Given the description of an element on the screen output the (x, y) to click on. 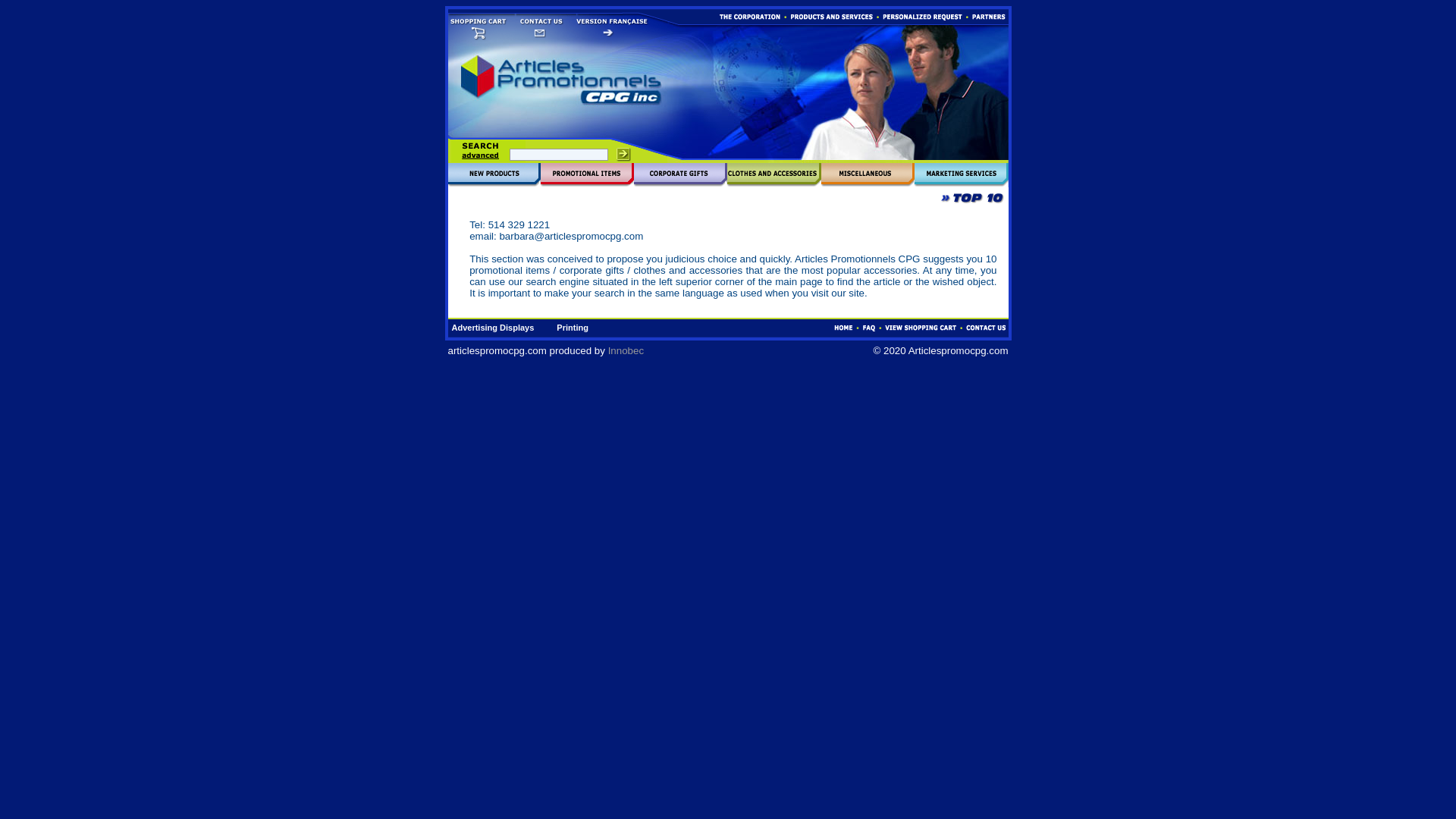
Advertising Displays (492, 327)
Printing (572, 327)
Innobec (625, 349)
